Given the description of an element on the screen output the (x, y) to click on. 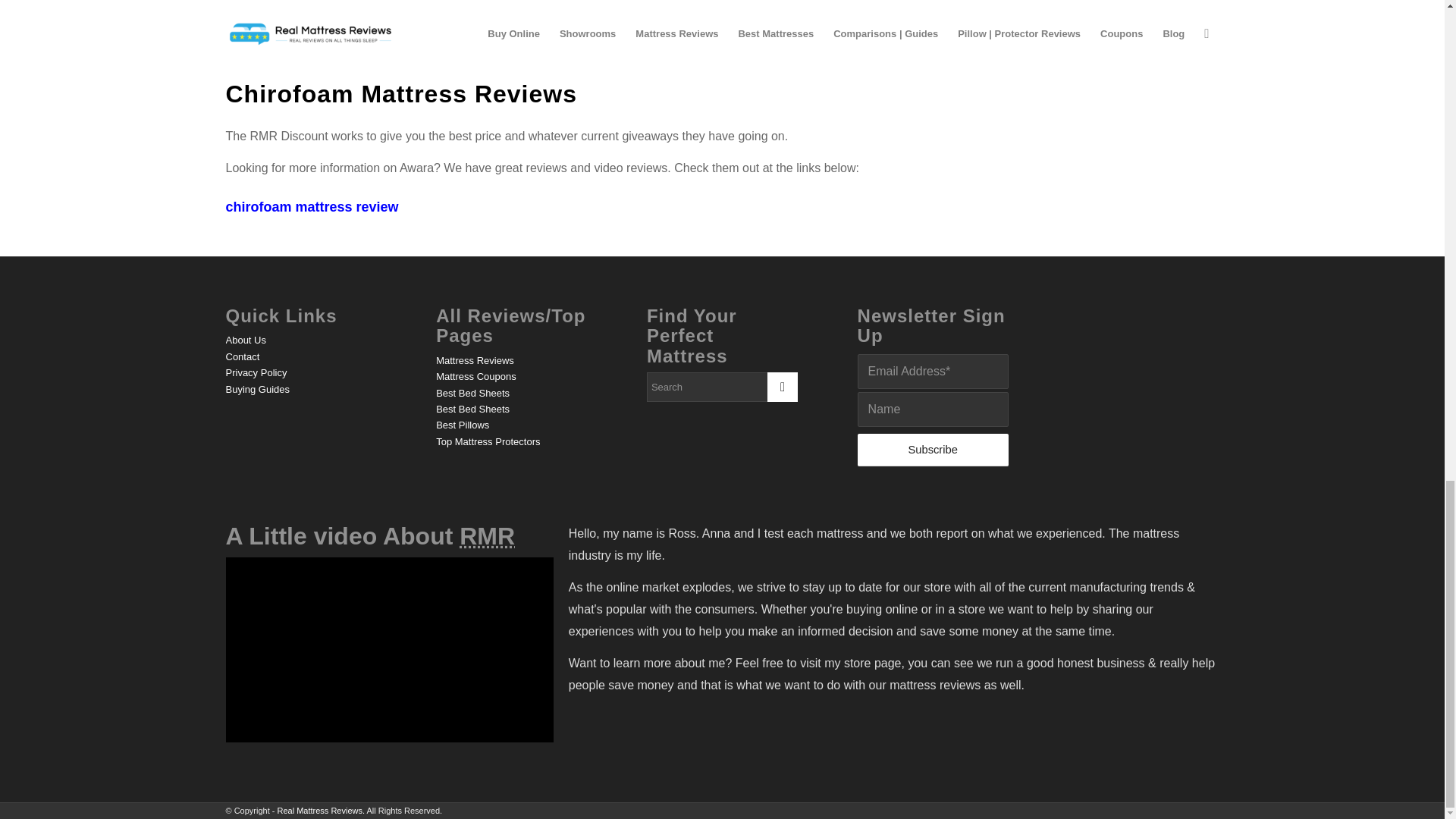
Real Mattress Reviews (487, 535)
Subscribe (933, 450)
Thank you Note (389, 649)
